Given the description of an element on the screen output the (x, y) to click on. 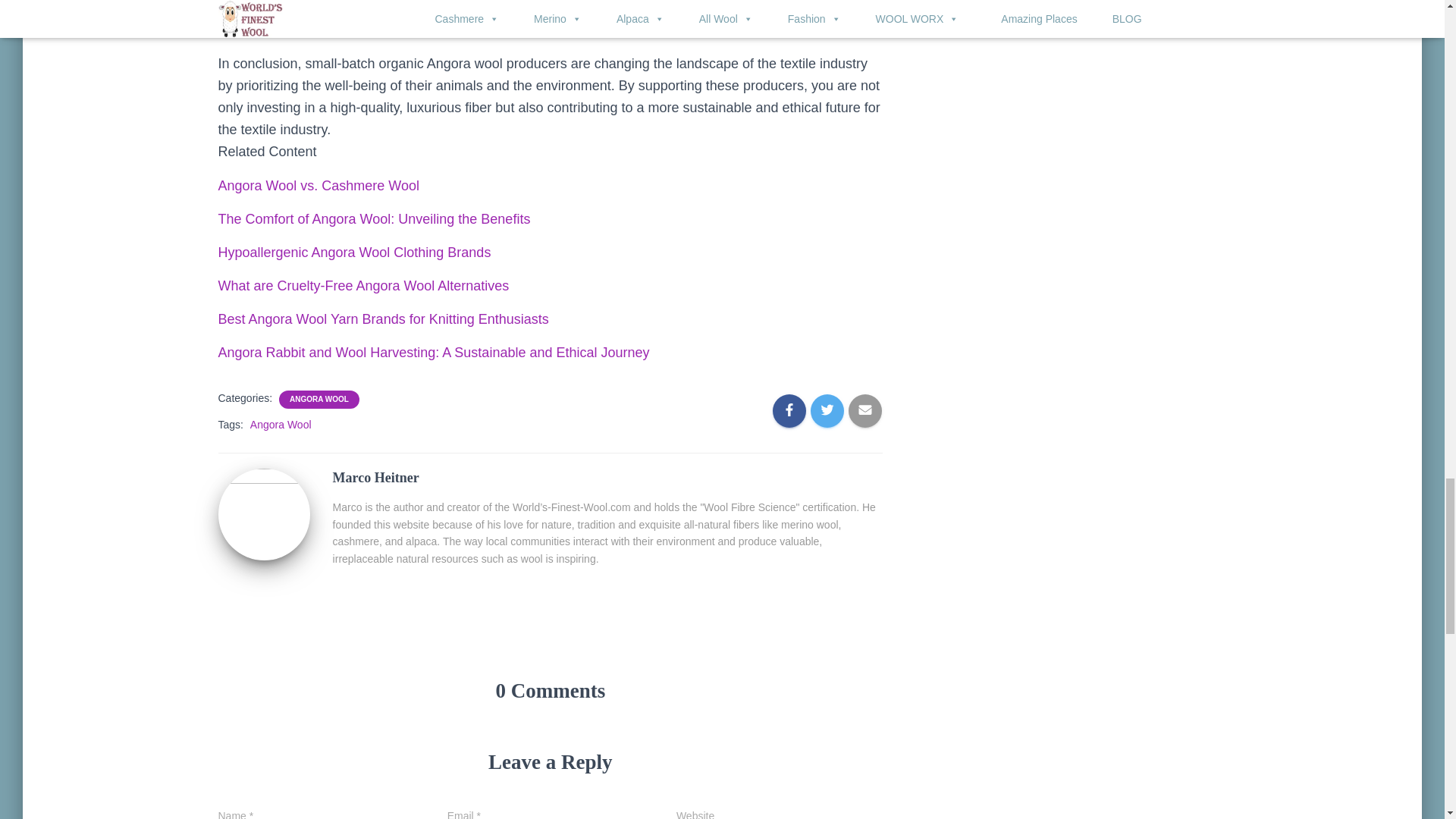
Marco Heitner (264, 512)
